Given the description of an element on the screen output the (x, y) to click on. 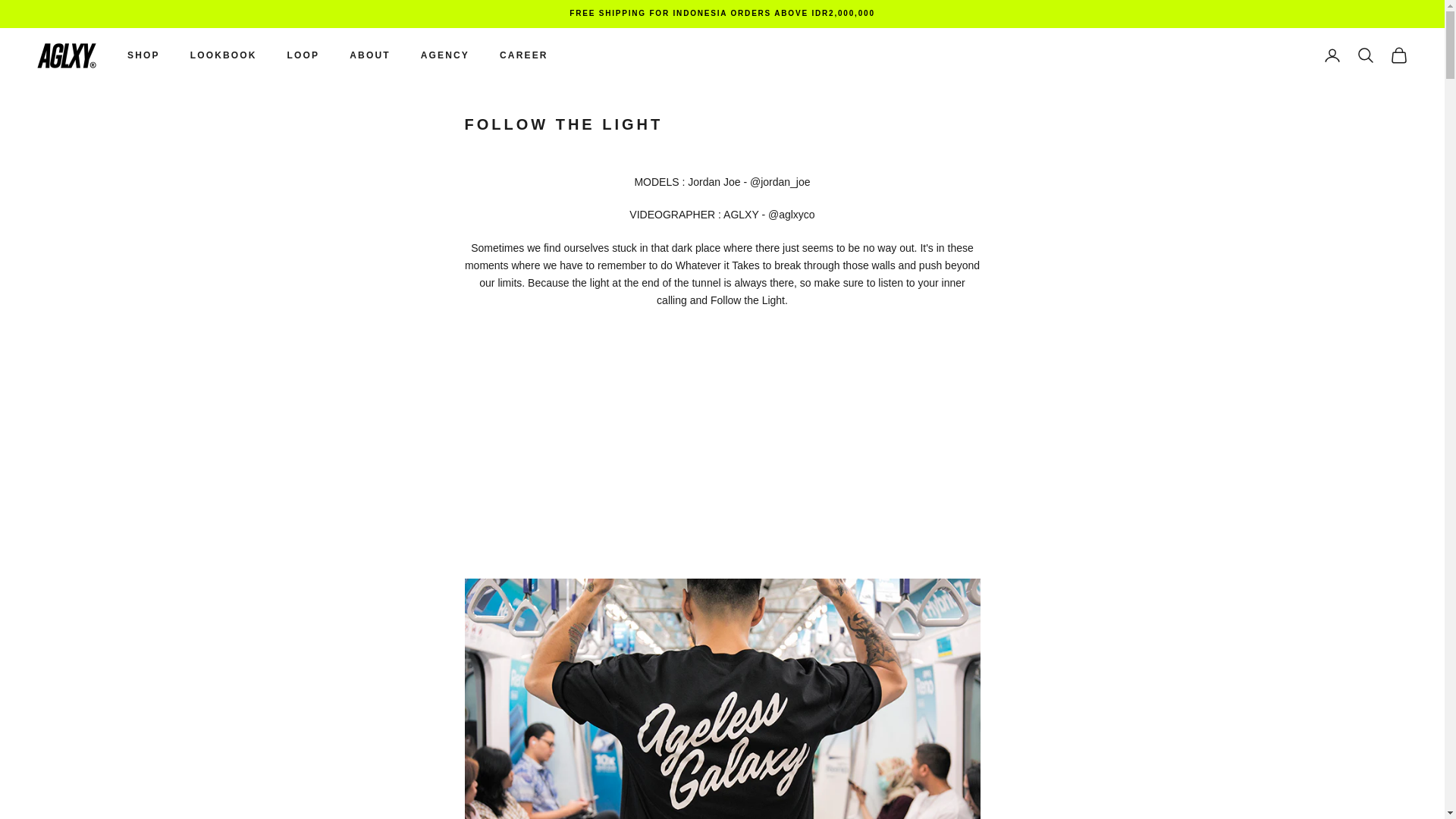
AGENCY (444, 55)
CAREER (523, 55)
LOOP (303, 55)
LOOKBOOK (223, 55)
Open search (1365, 54)
Open cart (1398, 54)
ABOUT (369, 55)
Open account page (1331, 54)
AGELESS GALAXY (66, 54)
